Given the description of an element on the screen output the (x, y) to click on. 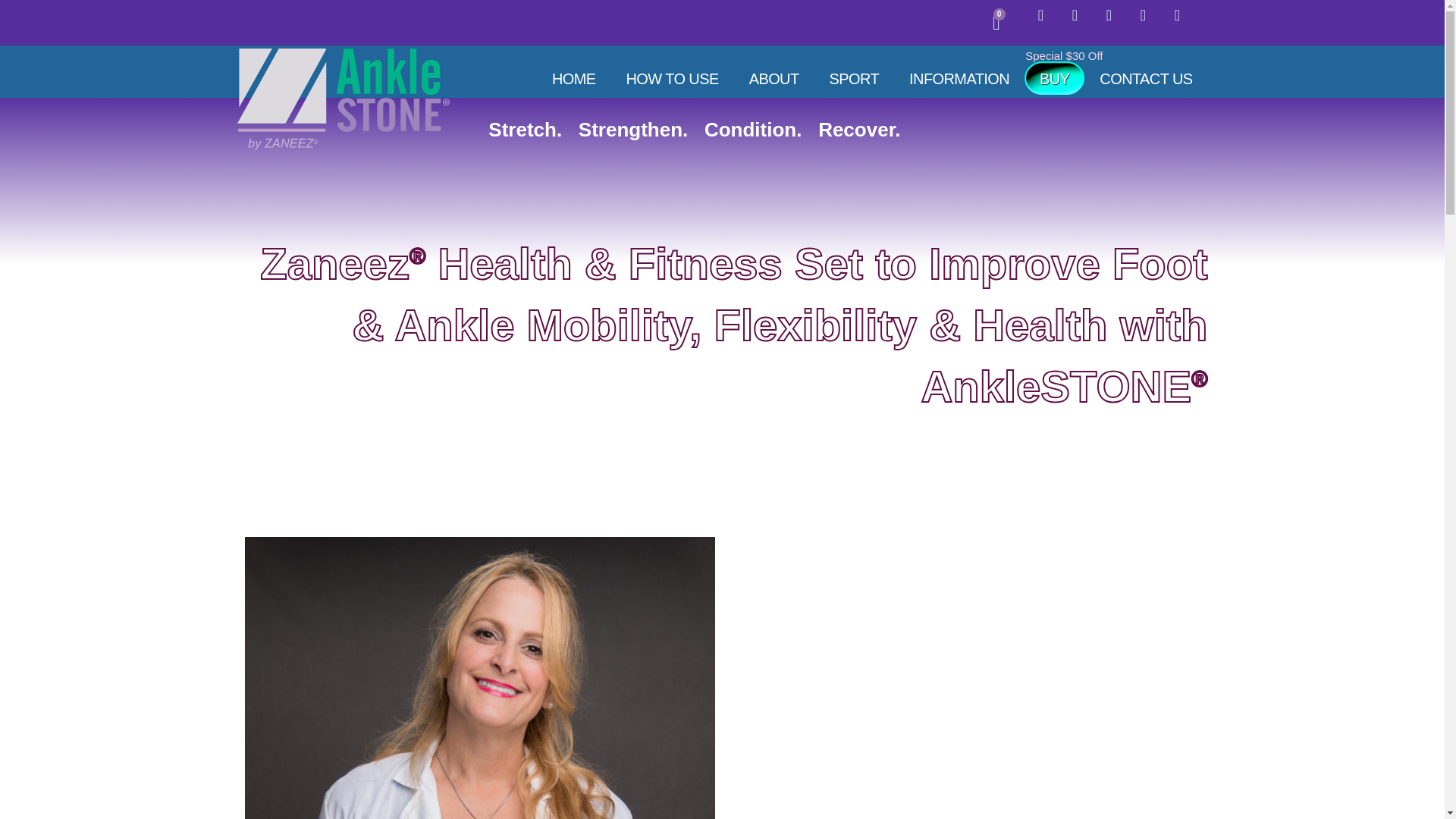
HOME (574, 78)
Linkedin (995, 22)
SPORT (1150, 22)
Pinterest (854, 78)
HOW TO USE (1184, 22)
Facebook (671, 78)
CONTACT US (1115, 22)
Youtube (1145, 78)
BUY (1047, 22)
